Given the description of an element on the screen output the (x, y) to click on. 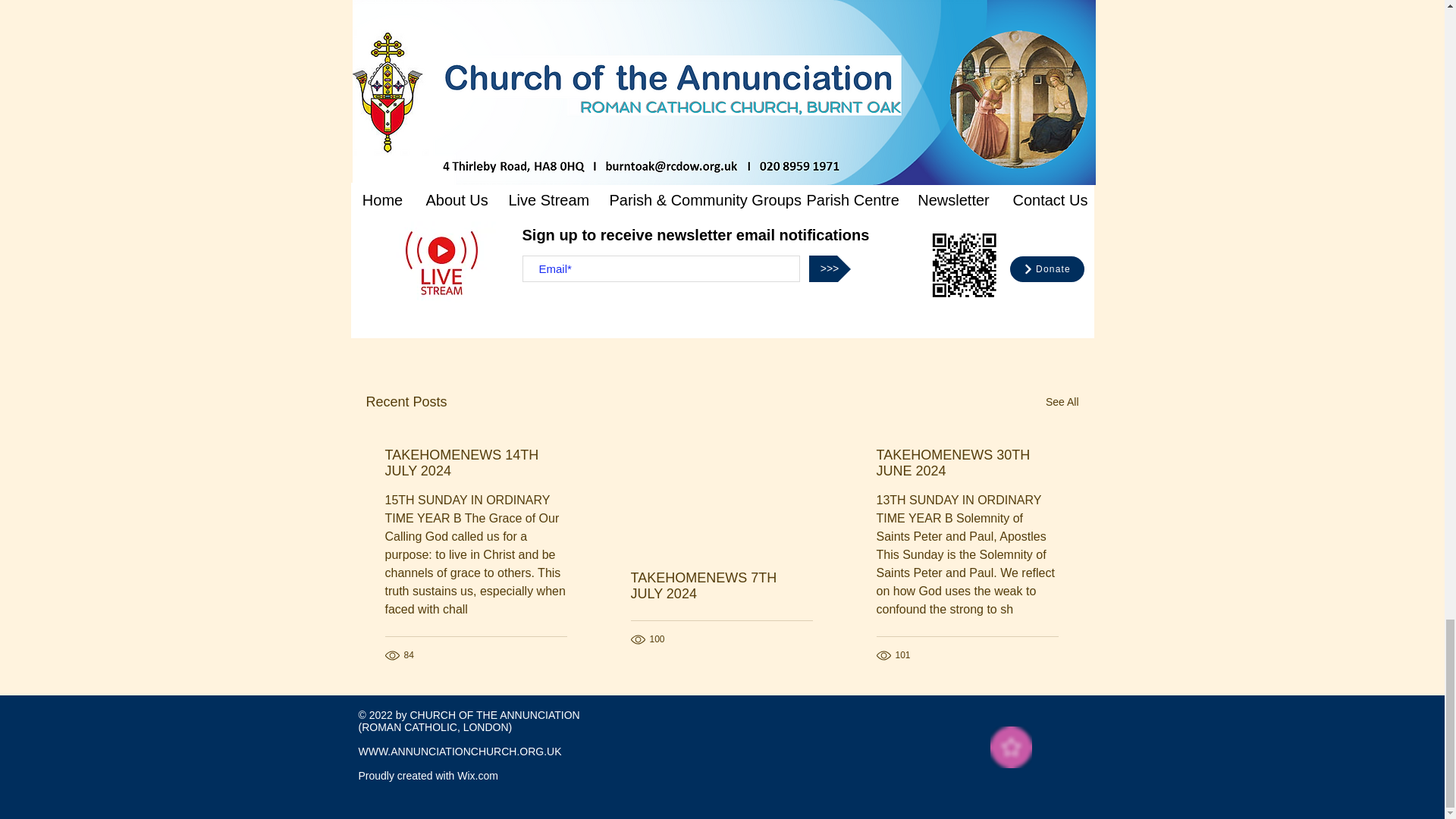
Wix.com (477, 775)
WWW.ANNUNCIATIONCHURCH.ORG.UK (459, 751)
See All (1061, 402)
TAKEHOMENEWS 30TH JUNE 2024 (967, 463)
TAKEHOMENEWS 7TH JULY 2024 (721, 585)
TAKEHOMENEWS 14TH JULY 2024 (476, 463)
